Given the description of an element on the screen output the (x, y) to click on. 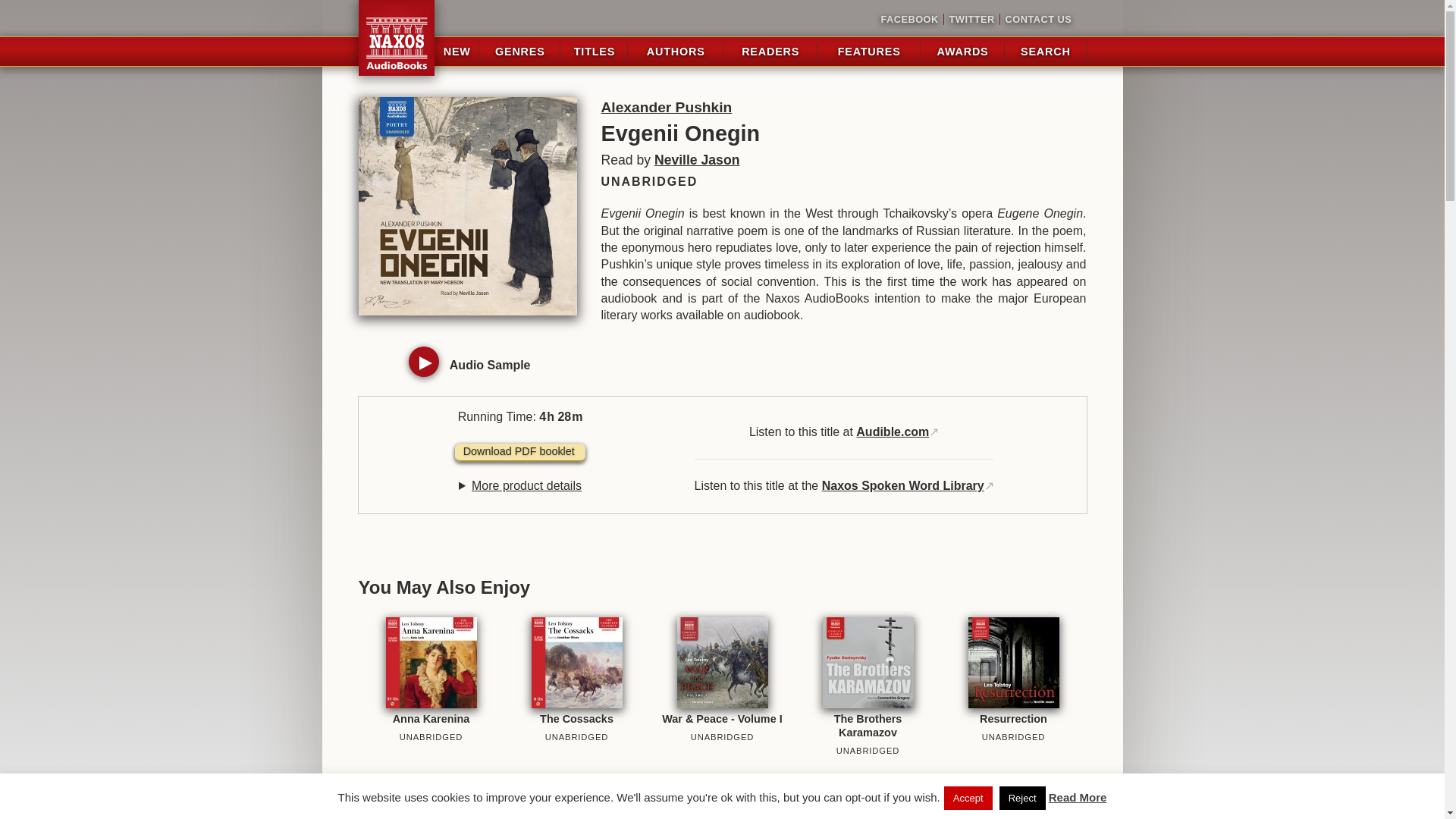
HOME (395, 38)
READERS (770, 51)
TWITTER (970, 19)
Naxos Spoken Word Library (903, 485)
Download PDF booklet (519, 452)
GENRES (519, 51)
FACEBOOK (909, 19)
CONTACT US (1034, 19)
FEATURES (869, 51)
Alexander Pushkin (665, 107)
TITLES (593, 51)
AWARDS (962, 51)
Neville Jason (696, 159)
Listen at Audible.com (892, 431)
NEW (457, 51)
